Given the description of an element on the screen output the (x, y) to click on. 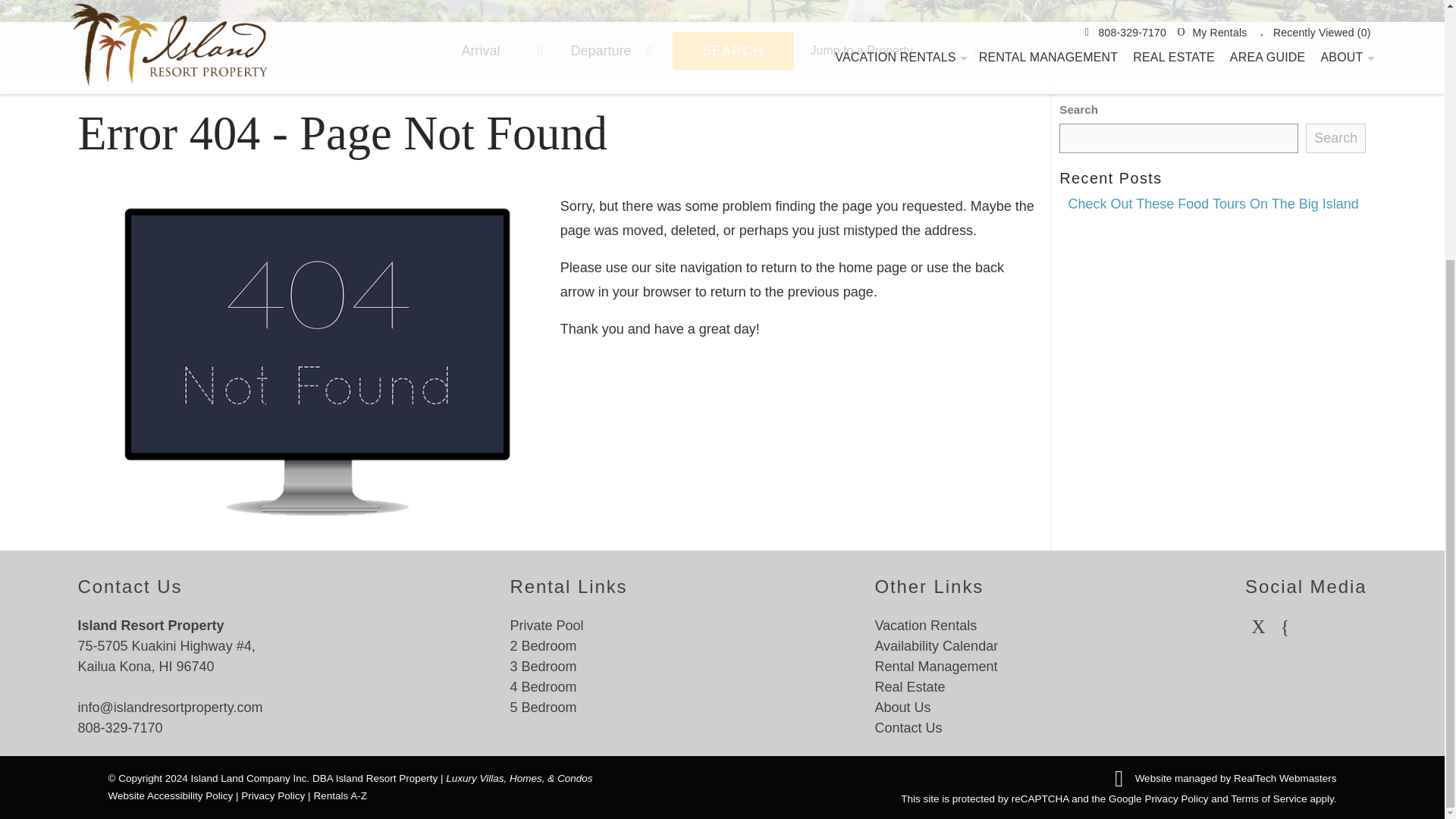
4 Bedroom (542, 686)
2 Bedroom (542, 645)
5 Bedroom (542, 707)
Private Pool (546, 625)
Follow us on Instagram (1284, 625)
search for vacation rentals (622, 50)
Vacation Rentals (925, 625)
Check Out These Food Tours On The Big Island (1212, 203)
Search (1335, 138)
SEARCH (732, 50)
